Given the description of an element on the screen output the (x, y) to click on. 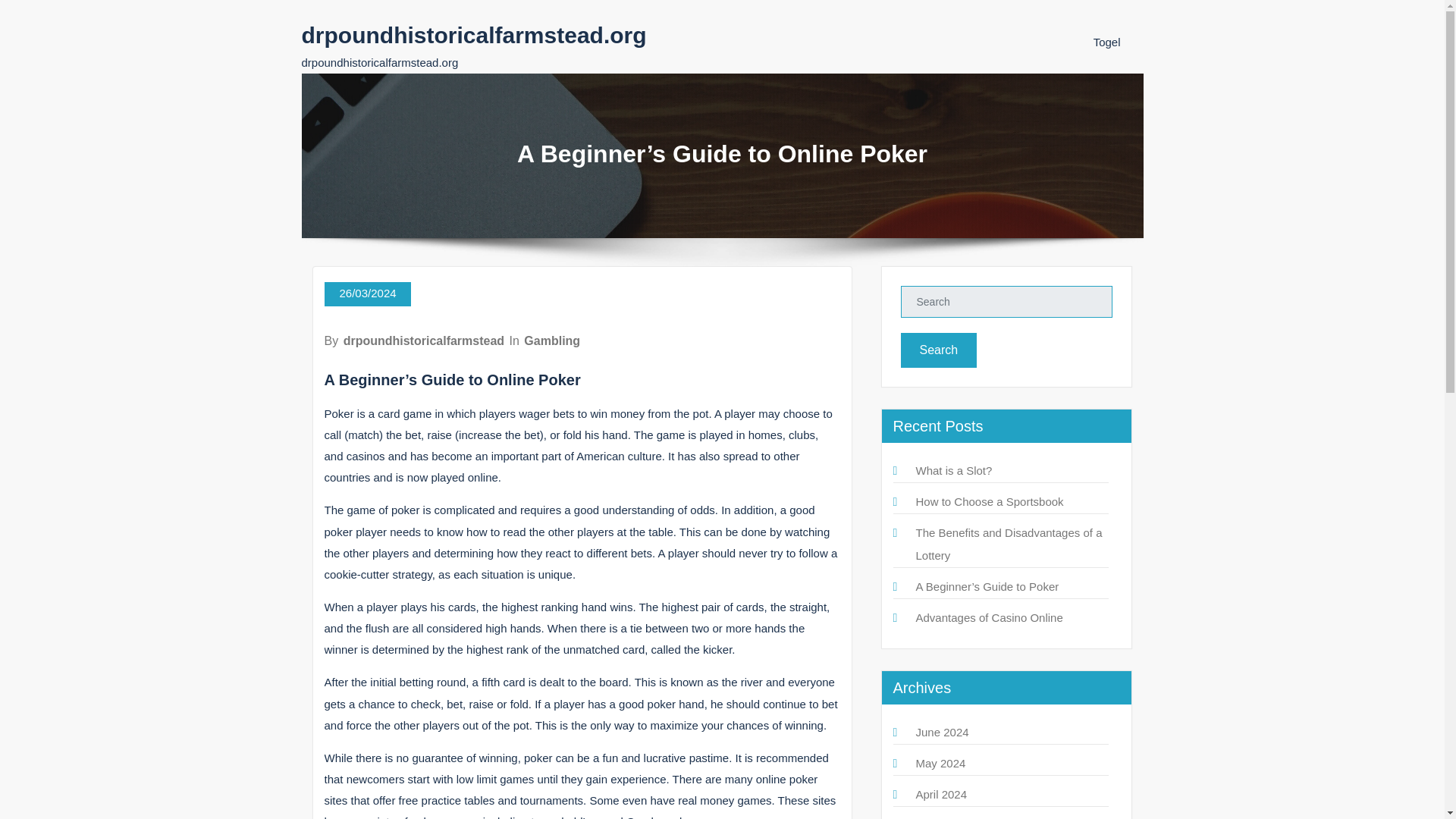
June 2024 (942, 731)
May 2024 (940, 762)
Gambling (551, 340)
What is a Slot? (953, 470)
Search (938, 349)
drpoundhistoricalfarmstead (423, 340)
April 2024 (941, 793)
drpoundhistoricalfarmstead.org (473, 34)
Advantages of Casino Online (988, 617)
How to Choose a Sportsbook (989, 501)
The Benefits and Disadvantages of a Lottery (1008, 543)
